Given the description of an element on the screen output the (x, y) to click on. 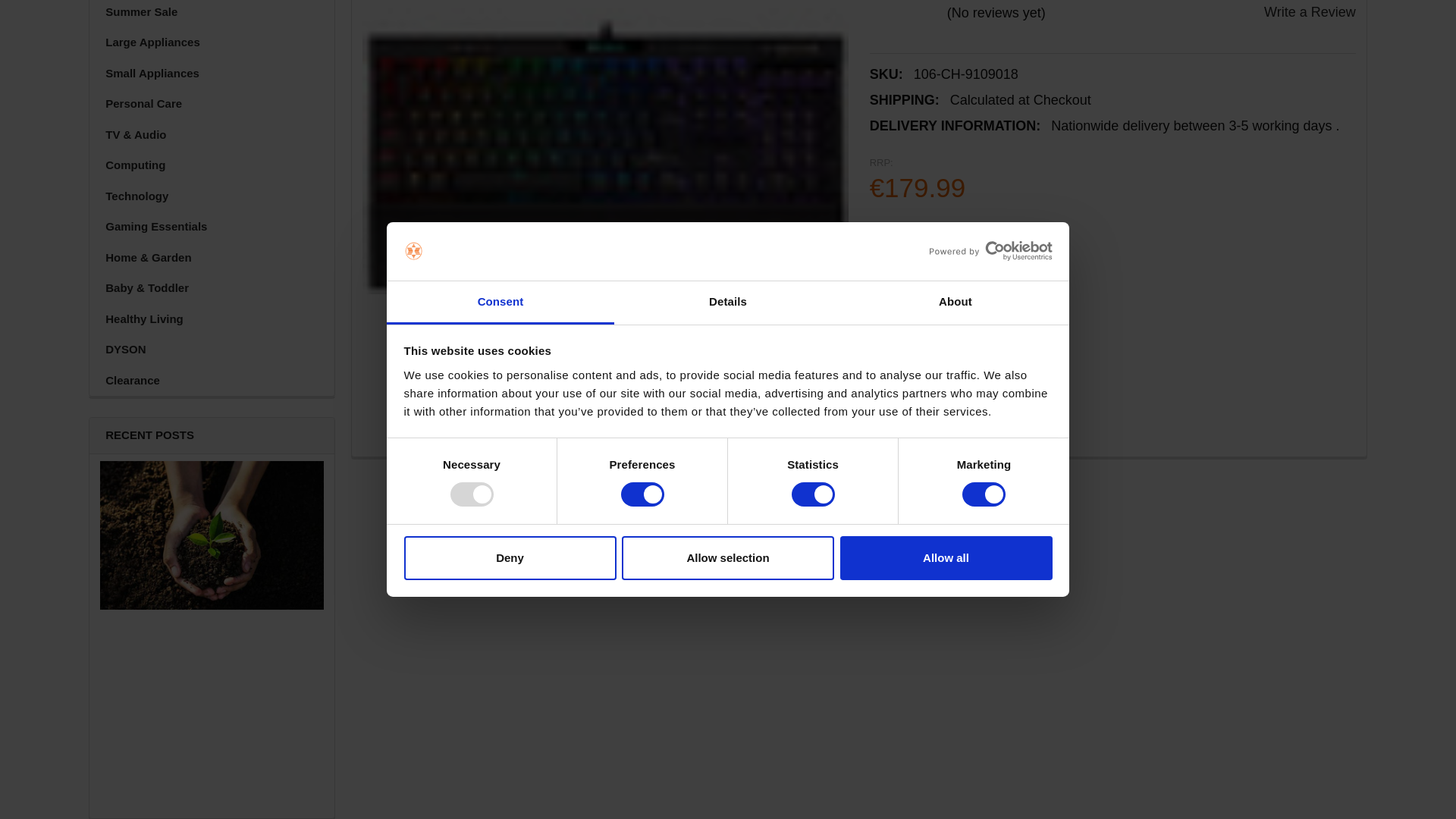
Details (727, 3)
About (954, 3)
Consent (500, 3)
